Given the description of an element on the screen output the (x, y) to click on. 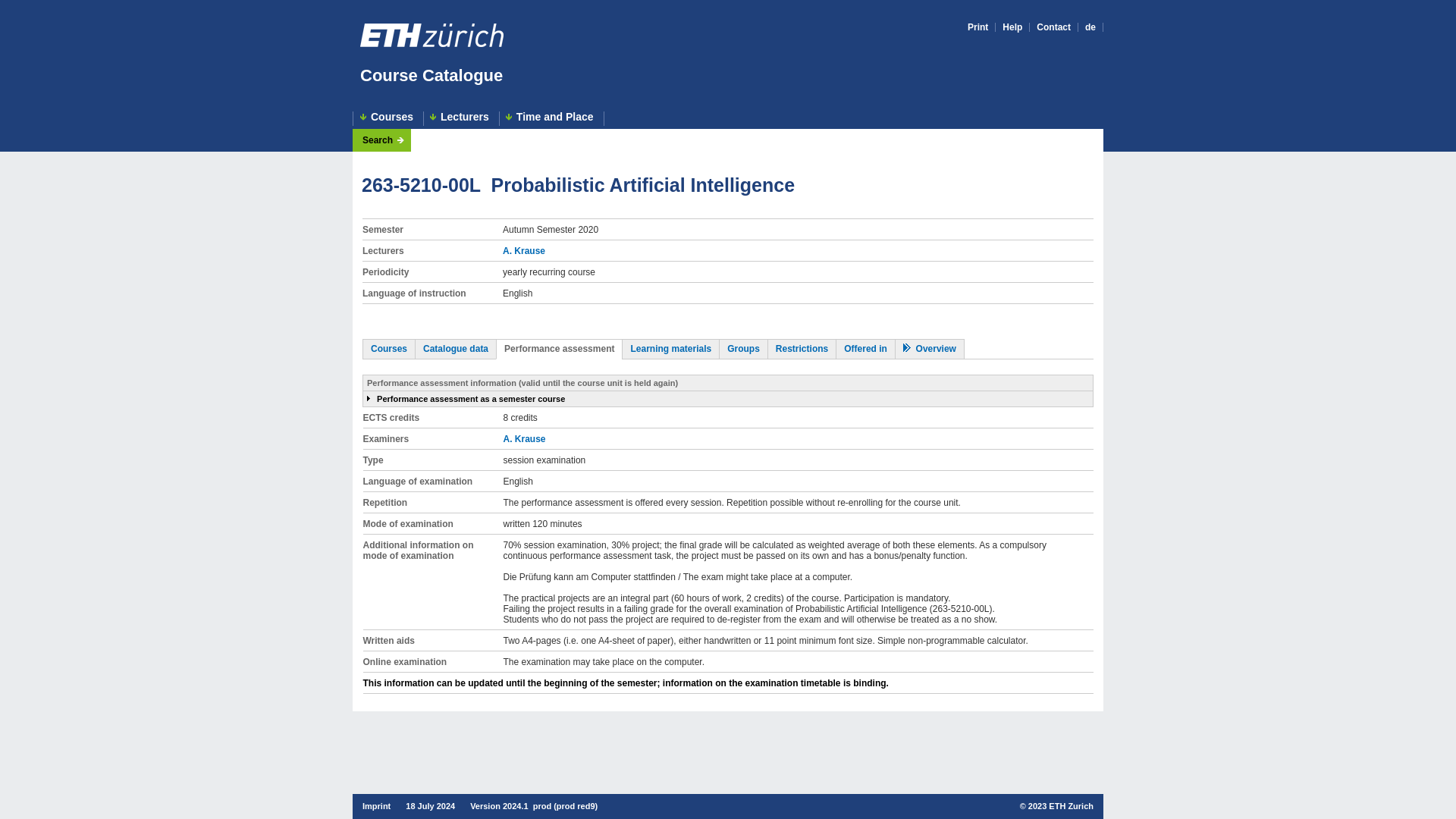
Course Catalogue (430, 75)
Courses (387, 118)
Restrictions (802, 348)
de (1090, 26)
Time and Place (551, 118)
Help (1012, 26)
Lecturers (461, 118)
Contact (1053, 26)
Catalogue data (455, 348)
Courses (389, 348)
Print (978, 26)
Learning materials (670, 348)
Offered in (865, 348)
  Overview (929, 348)
A. Krause (523, 250)
